Given the description of an element on the screen output the (x, y) to click on. 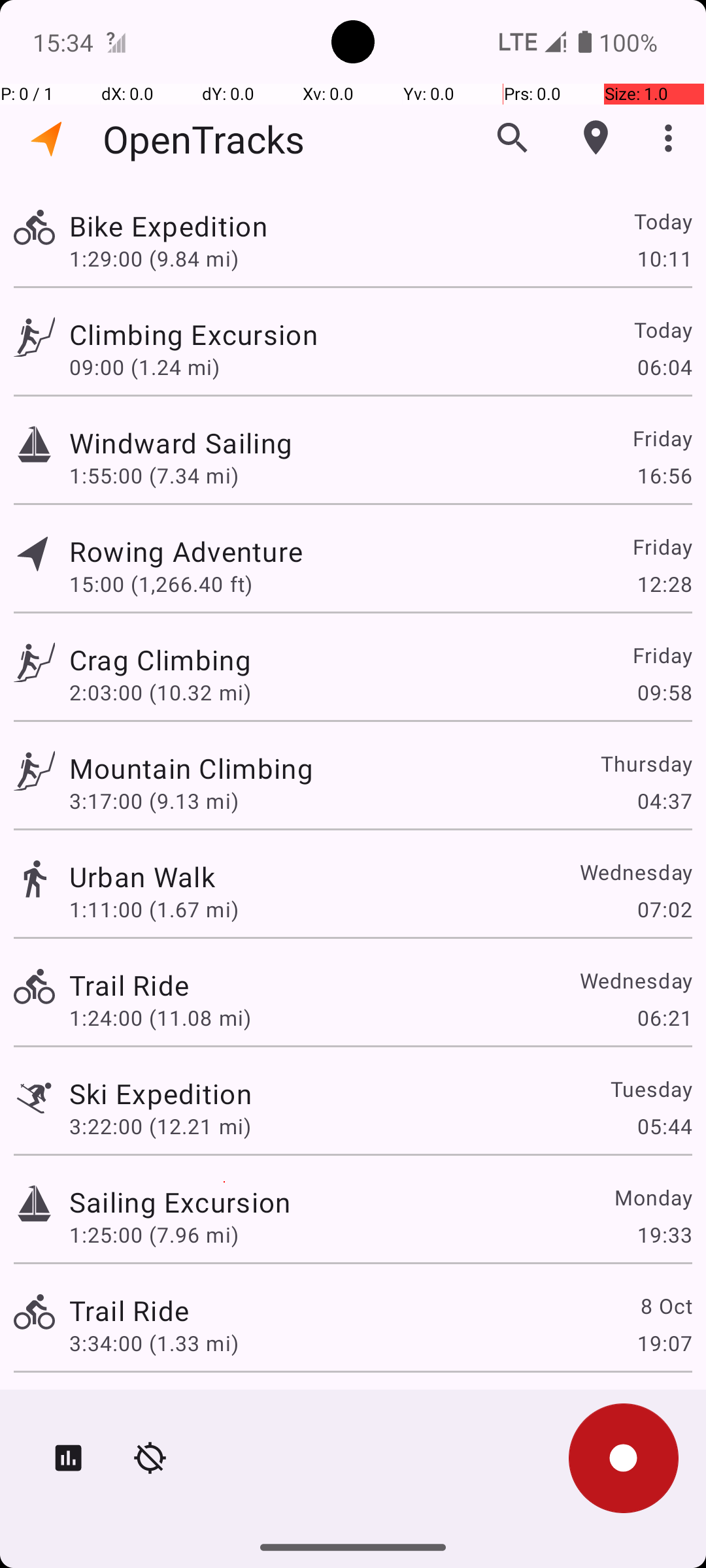
Bike Expedition Element type: android.widget.TextView (168, 225)
1:29:00 (9.84 mi) Element type: android.widget.TextView (153, 258)
10:11 Element type: android.widget.TextView (664, 258)
Climbing Excursion Element type: android.widget.TextView (193, 333)
09:00 (1.24 mi) Element type: android.widget.TextView (144, 366)
06:04 Element type: android.widget.TextView (664, 366)
Windward Sailing Element type: android.widget.TextView (180, 442)
1:55:00 (7.34 mi) Element type: android.widget.TextView (153, 475)
16:56 Element type: android.widget.TextView (664, 475)
Rowing Adventure Element type: android.widget.TextView (185, 550)
15:00 (1,266.40 ft) Element type: android.widget.TextView (160, 583)
12:28 Element type: android.widget.TextView (664, 583)
Crag Climbing Element type: android.widget.TextView (159, 659)
2:03:00 (10.32 mi) Element type: android.widget.TextView (159, 692)
09:58 Element type: android.widget.TextView (664, 692)
Mountain Climbing Element type: android.widget.TextView (190, 767)
3:17:00 (9.13 mi) Element type: android.widget.TextView (153, 800)
04:37 Element type: android.widget.TextView (664, 800)
Urban Walk Element type: android.widget.TextView (141, 876)
1:11:00 (1.67 mi) Element type: android.widget.TextView (153, 909)
07:02 Element type: android.widget.TextView (664, 909)
Trail Ride Element type: android.widget.TextView (128, 984)
1:24:00 (11.08 mi) Element type: android.widget.TextView (159, 1017)
06:21 Element type: android.widget.TextView (664, 1017)
Ski Expedition Element type: android.widget.TextView (160, 1092)
3:22:00 (12.21 mi) Element type: android.widget.TextView (159, 1125)
05:44 Element type: android.widget.TextView (664, 1125)
Sailing Excursion Element type: android.widget.TextView (179, 1201)
1:25:00 (7.96 mi) Element type: android.widget.TextView (153, 1234)
19:33 Element type: android.widget.TextView (664, 1234)
3:34:00 (1.33 mi) Element type: android.widget.TextView (153, 1342)
19:07 Element type: android.widget.TextView (664, 1342)
Brisk Walk Element type: android.widget.TextView (135, 1408)
